Given the description of an element on the screen output the (x, y) to click on. 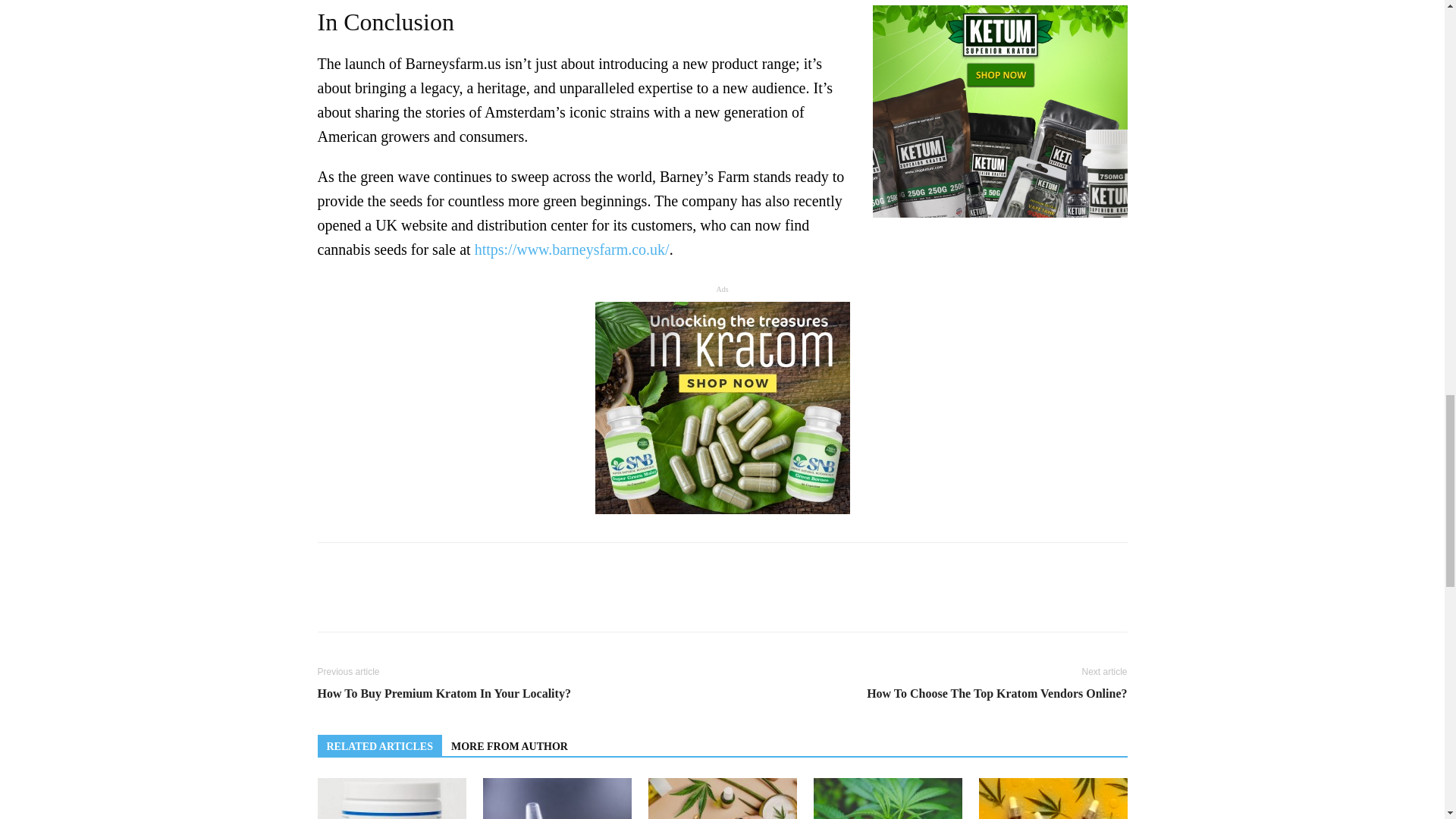
Kratom Spot (999, 110)
Super Natural Botanicals (721, 408)
